Given the description of an element on the screen output the (x, y) to click on. 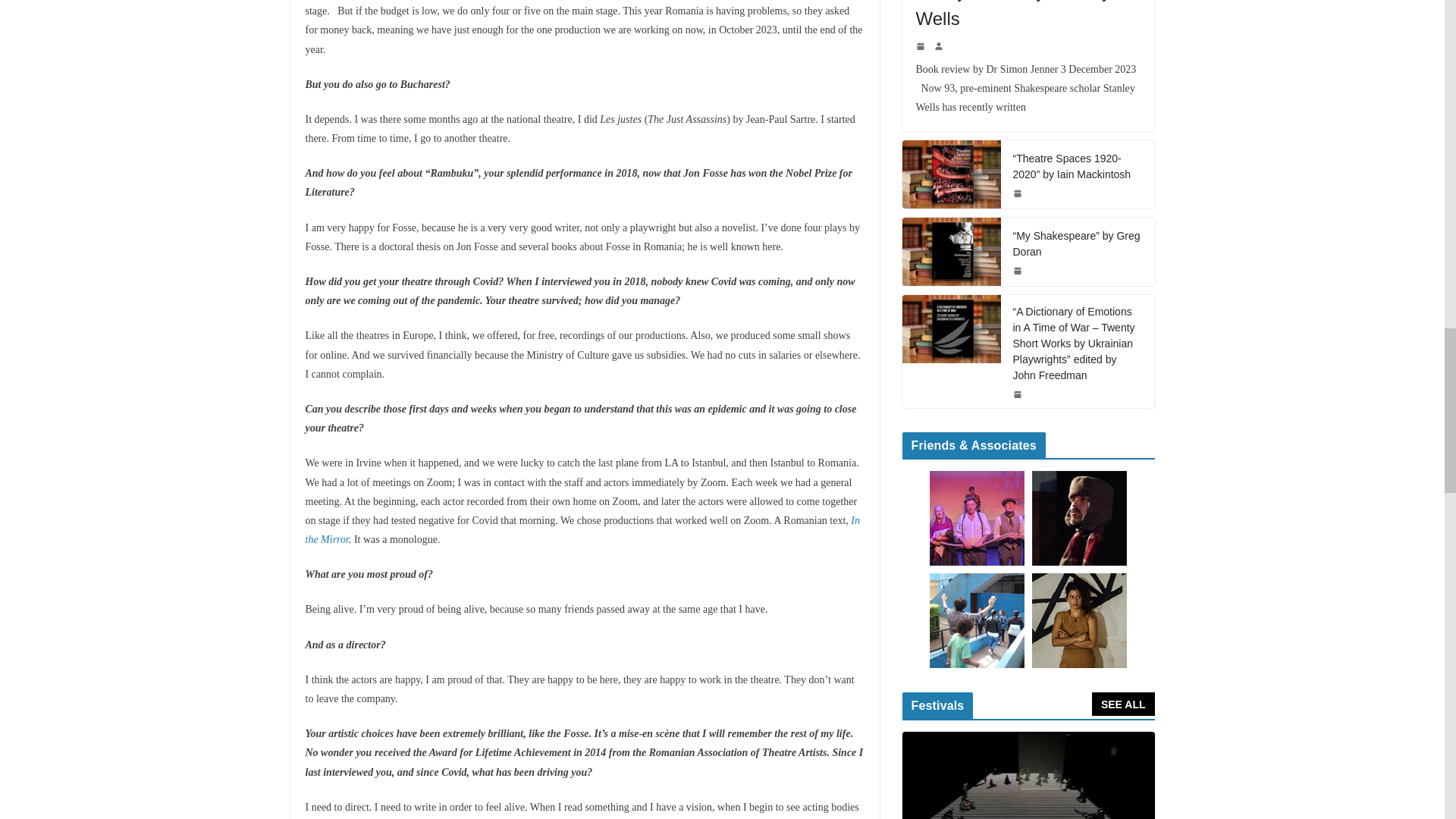
In the Mirror (582, 530)
